Given the description of an element on the screen output the (x, y) to click on. 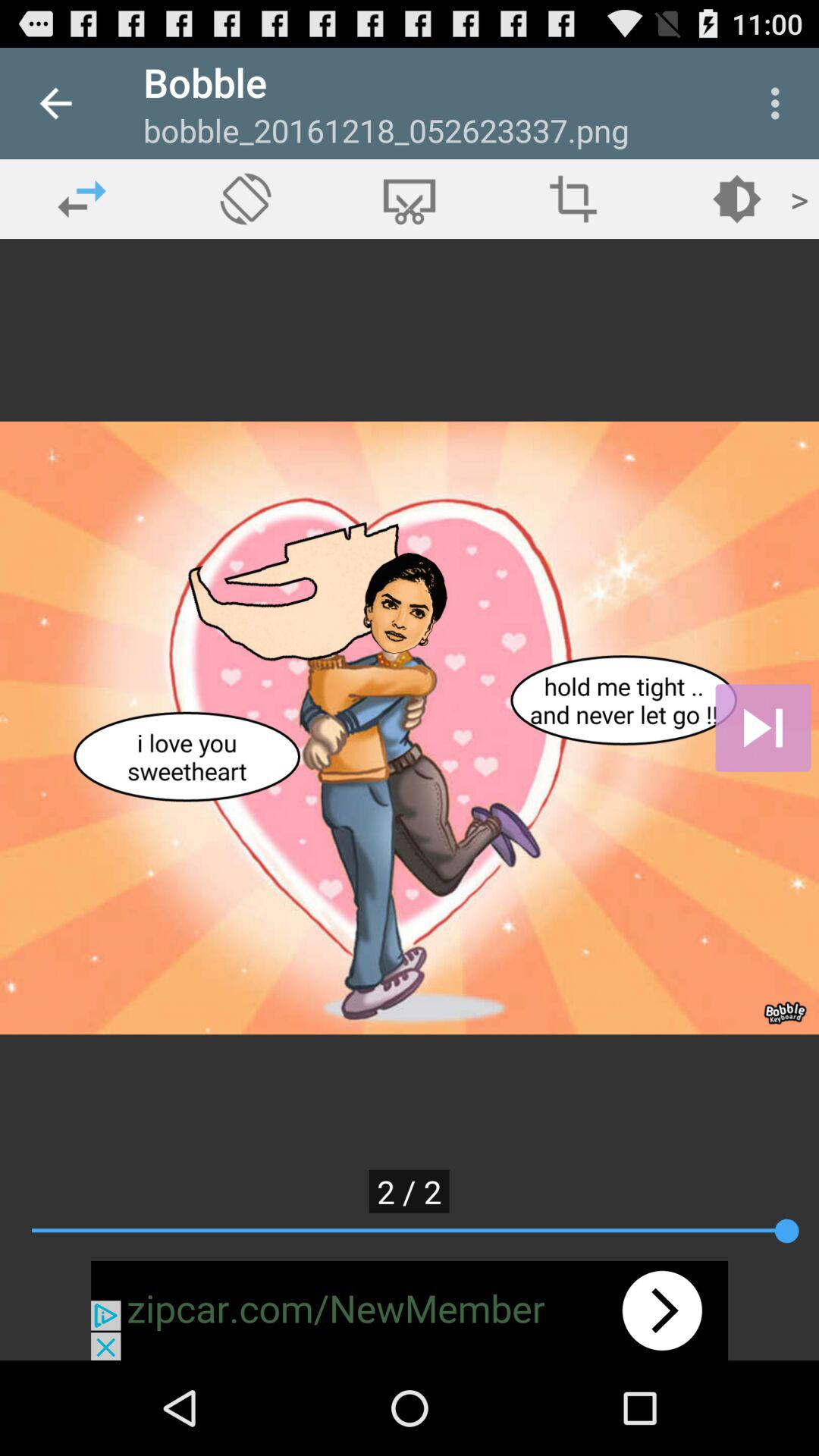
turn screen alignment (245, 198)
